Given the description of an element on the screen output the (x, y) to click on. 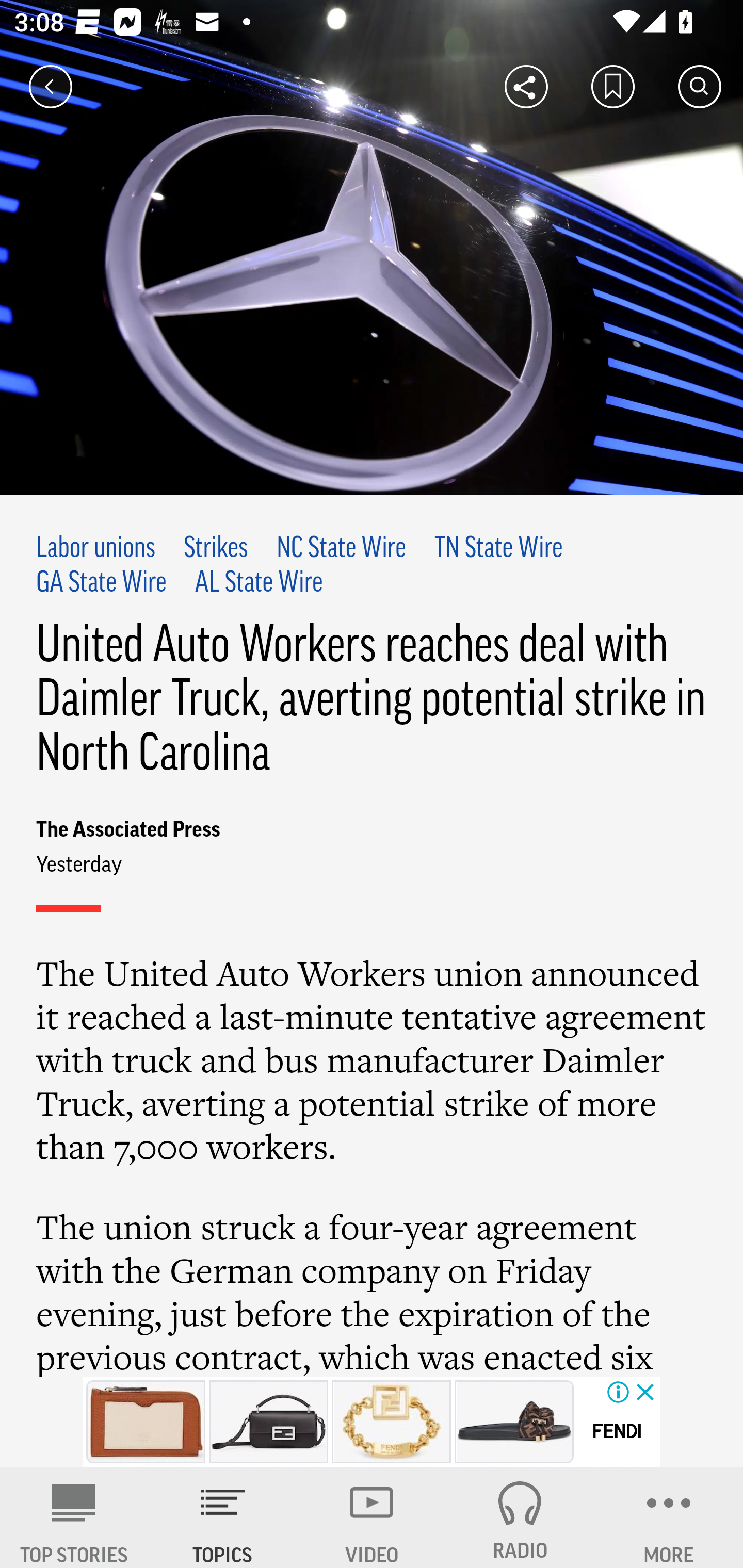
Labor unions (96, 549)
Strikes (215, 549)
NC State Wire (341, 549)
TN State Wire (498, 549)
GA State Wire (101, 584)
AL State Wire (258, 584)
fendi-feel-brown-satin-slides-8x8142ae7sf0r7v (513, 1420)
AP News TOP STORIES (74, 1517)
TOPICS (222, 1517)
VIDEO (371, 1517)
RADIO (519, 1517)
MORE (668, 1517)
